Given the description of an element on the screen output the (x, y) to click on. 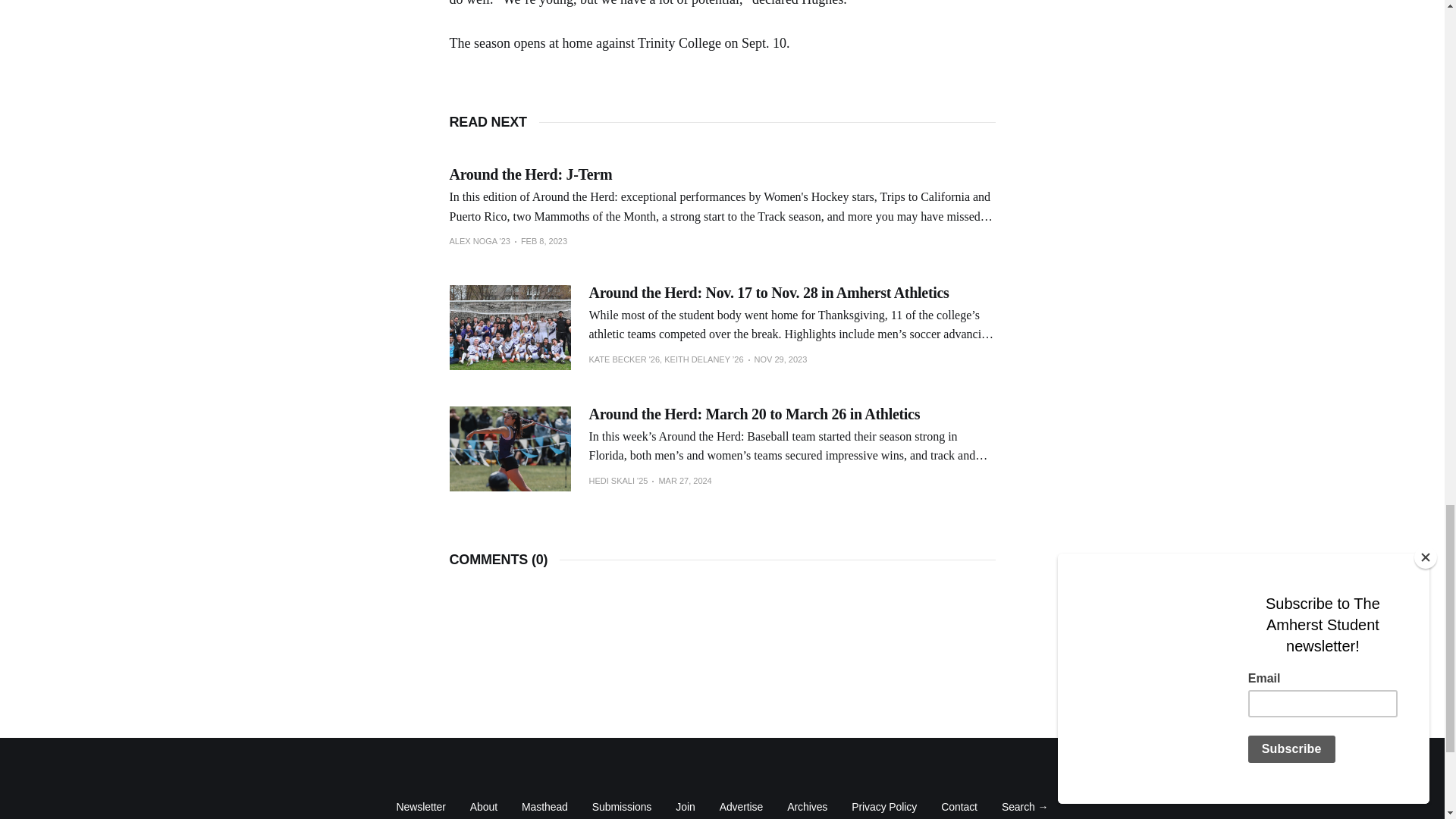
About (483, 806)
Masthead (544, 806)
Privacy Policy (884, 806)
Contact (958, 806)
Newsletter (420, 806)
Advertise (740, 806)
Archives (807, 806)
Submissions (621, 806)
Join (684, 806)
